Given the description of an element on the screen output the (x, y) to click on. 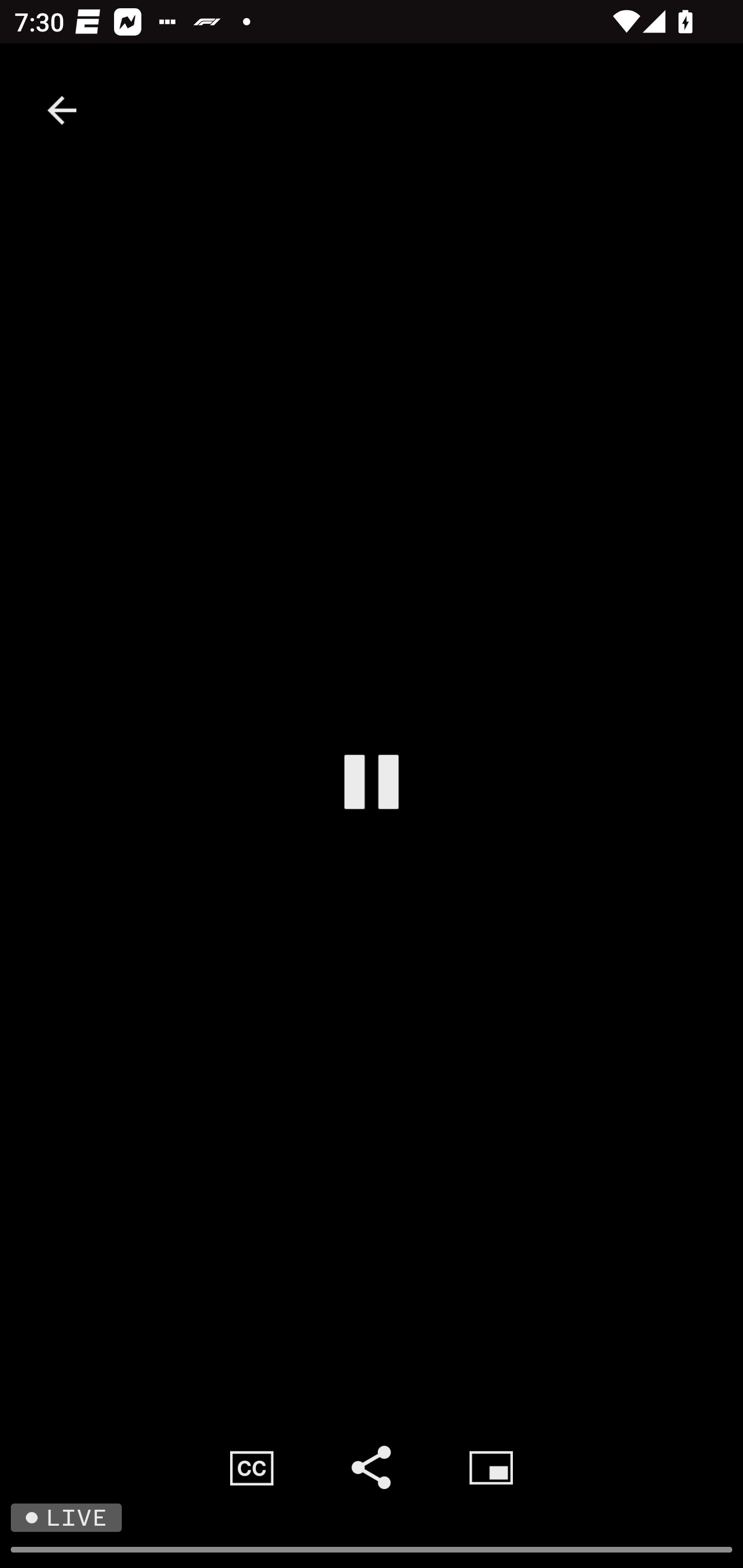
Back (61, 110)
Closed Captions, ON (251, 1467)
Share Media (371, 1467)
Picture in Picture Media (490, 1467)
